Given the description of an element on the screen output the (x, y) to click on. 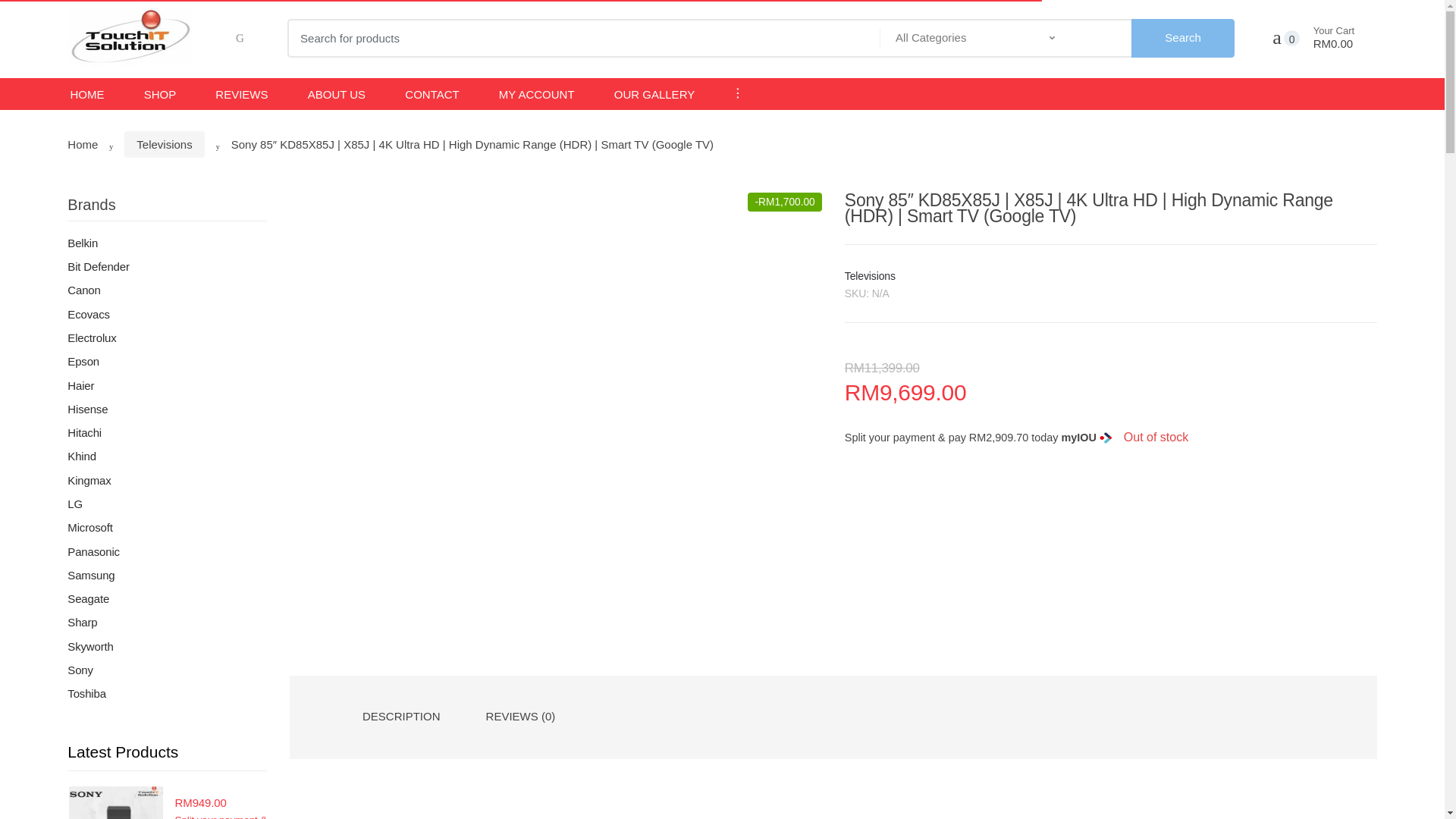
Reviews (241, 93)
Shop (160, 93)
ABOUT US (336, 93)
HOME (86, 93)
Televisions (163, 144)
About Us (336, 93)
View your shopping cart (1324, 38)
DESCRIPTION (401, 716)
CONTACT (431, 93)
Home (81, 144)
